Given the description of an element on the screen output the (x, y) to click on. 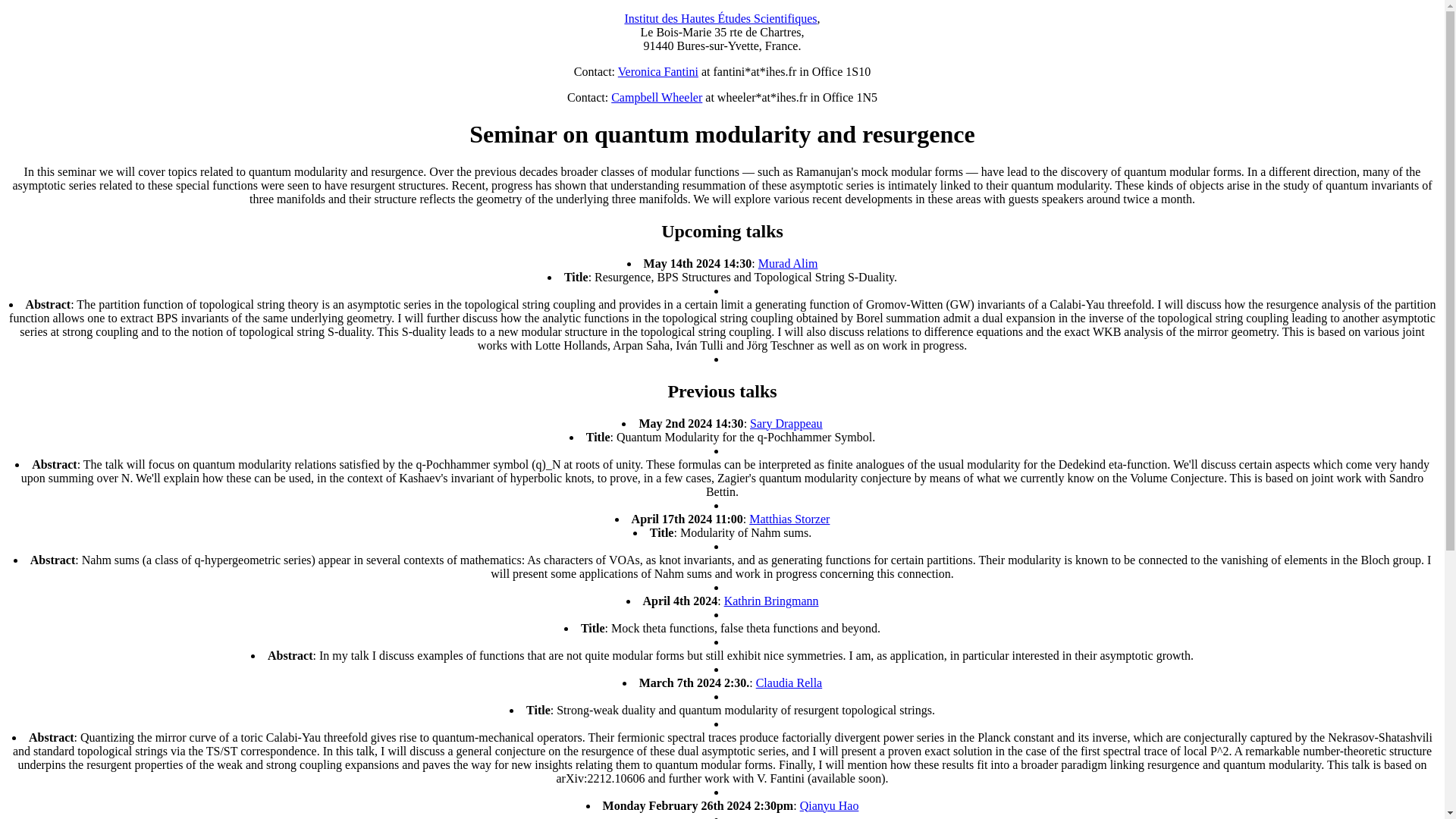
Matthias Storzer (789, 518)
Sary Drappeau (785, 422)
Murad Alim (788, 263)
Campbell Wheeler (656, 97)
Kathrin Bringmann (770, 600)
Claudia Rella (788, 682)
Veronica Fantini (657, 71)
Qianyu Hao (829, 805)
